Given the description of an element on the screen output the (x, y) to click on. 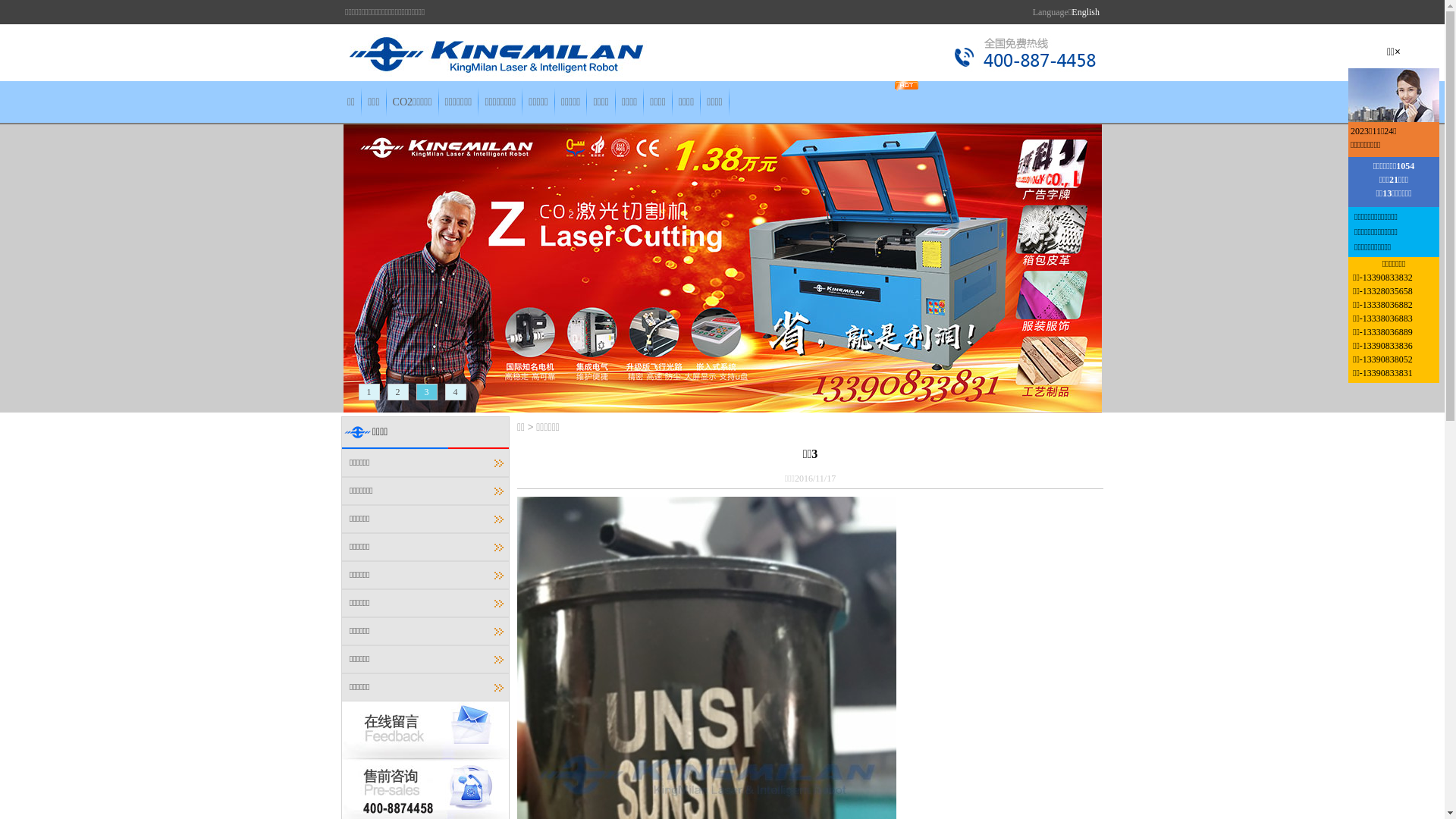
4 Element type: text (454, 391)
3 Element type: text (425, 391)
2 Element type: text (396, 391)
English Element type: text (1085, 11)
1 Element type: text (368, 391)
